Given the description of an element on the screen output the (x, y) to click on. 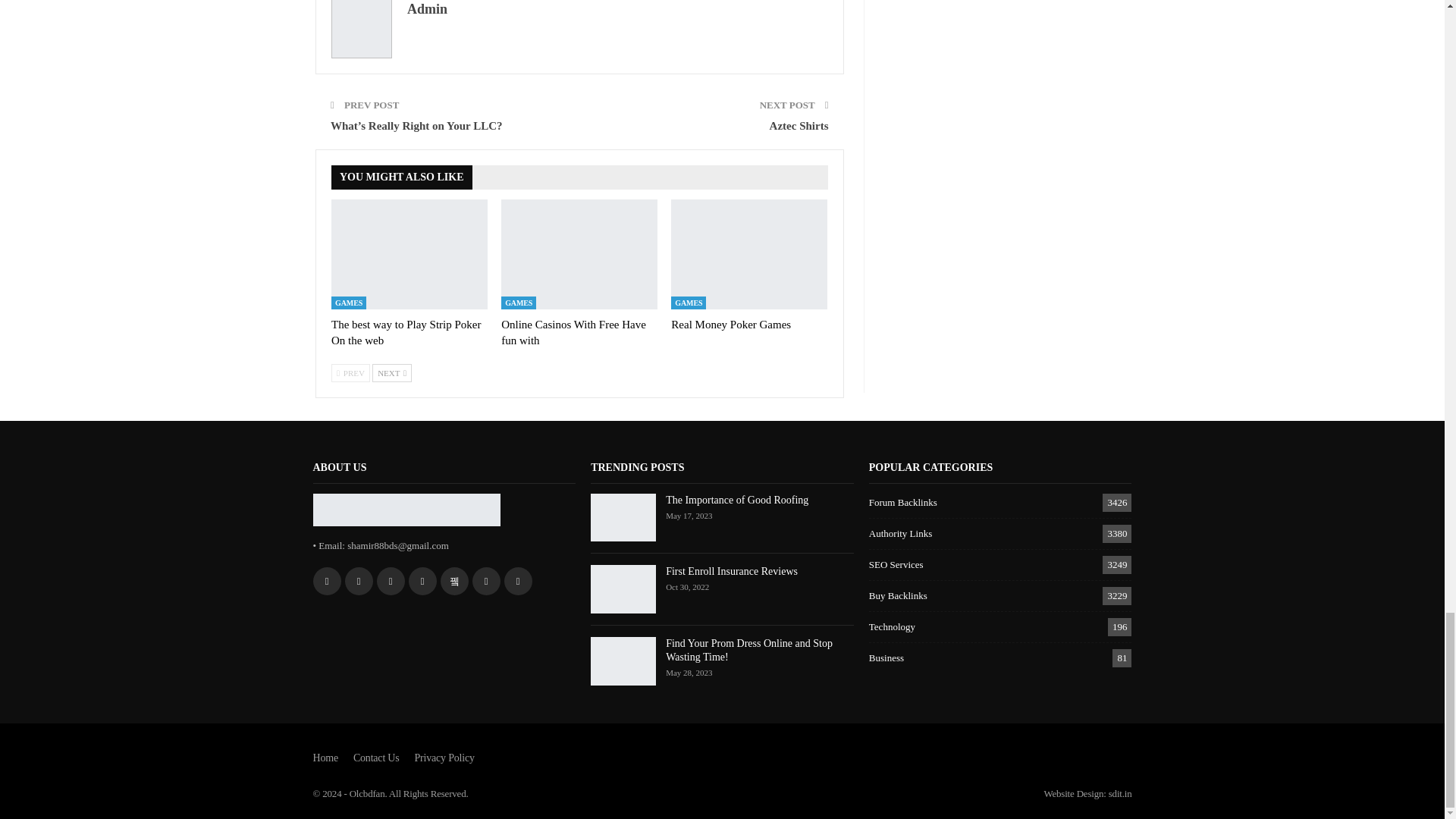
Real Money Poker Games (749, 253)
Real Money Poker Games (730, 324)
Next (392, 372)
Online Casinos With Free Have fun with (579, 253)
Previous (350, 372)
Online Casinos With Free Have fun with (573, 332)
The best way to Play Strip Poker On the web (405, 332)
The best way to Play Strip Poker On the web (409, 253)
